Given the description of an element on the screen output the (x, y) to click on. 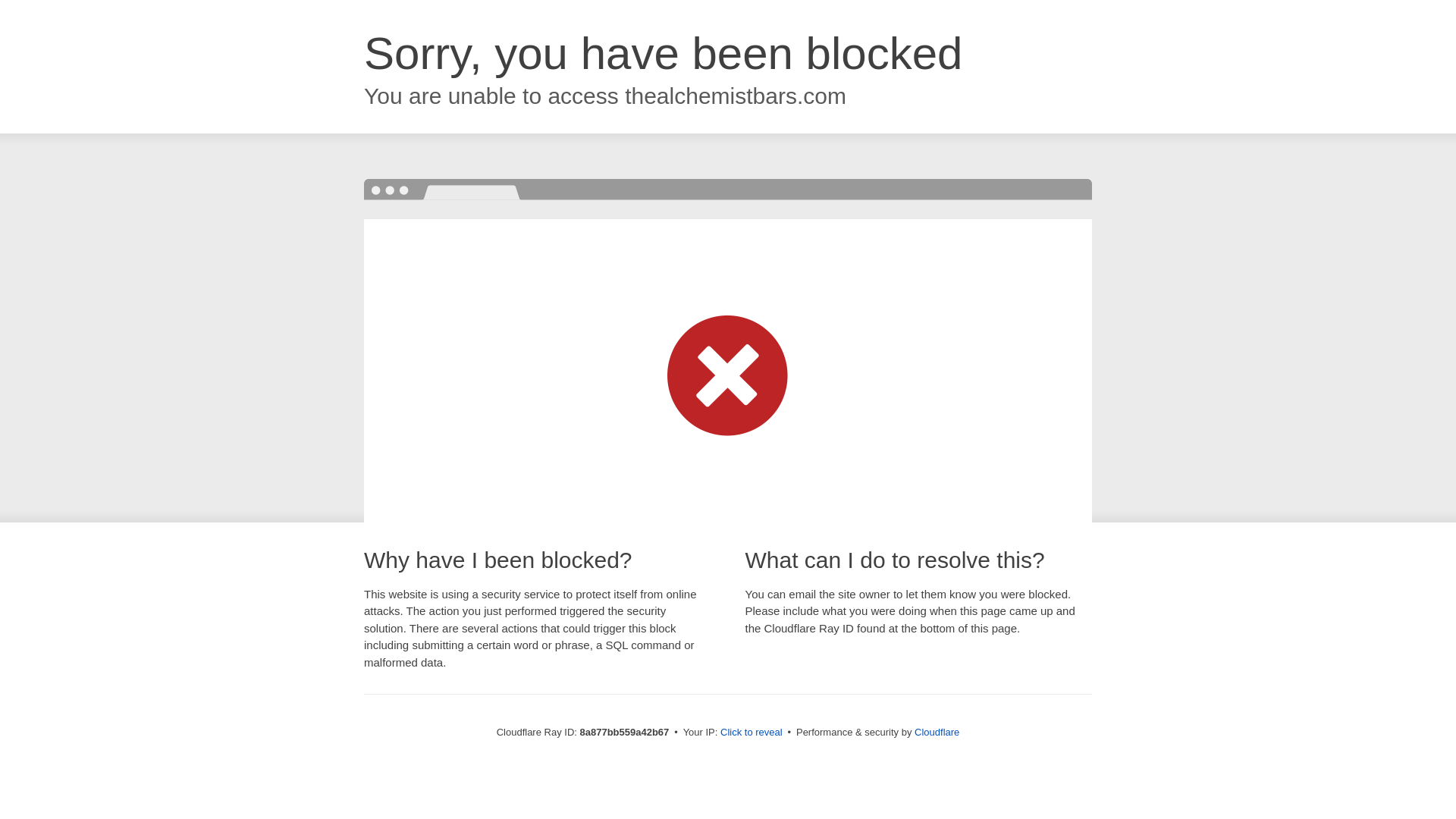
Click to reveal (751, 732)
Cloudflare (936, 731)
